Given the description of an element on the screen output the (x, y) to click on. 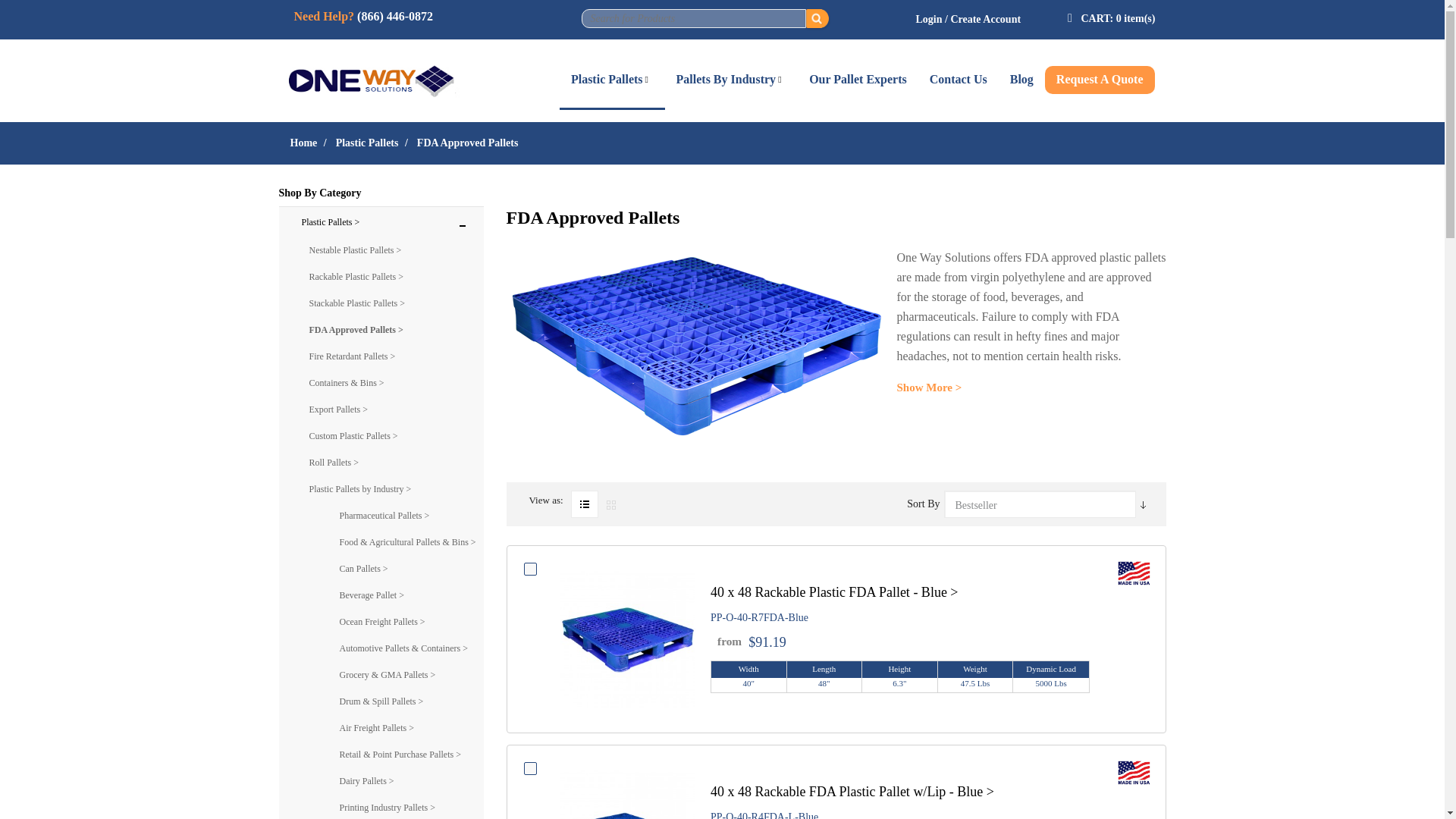
Home (303, 142)
Plastic Pallets (367, 142)
Plastic Pallets (612, 80)
Contact Us (958, 80)
Search (817, 18)
Need Help? (324, 15)
Pallets By Industry (731, 80)
Oneway Solutions (381, 75)
Go to Home Page (303, 142)
Blog (1021, 80)
Our Pallet Experts (857, 80)
Request A Quote (1099, 80)
